Given the description of an element on the screen output the (x, y) to click on. 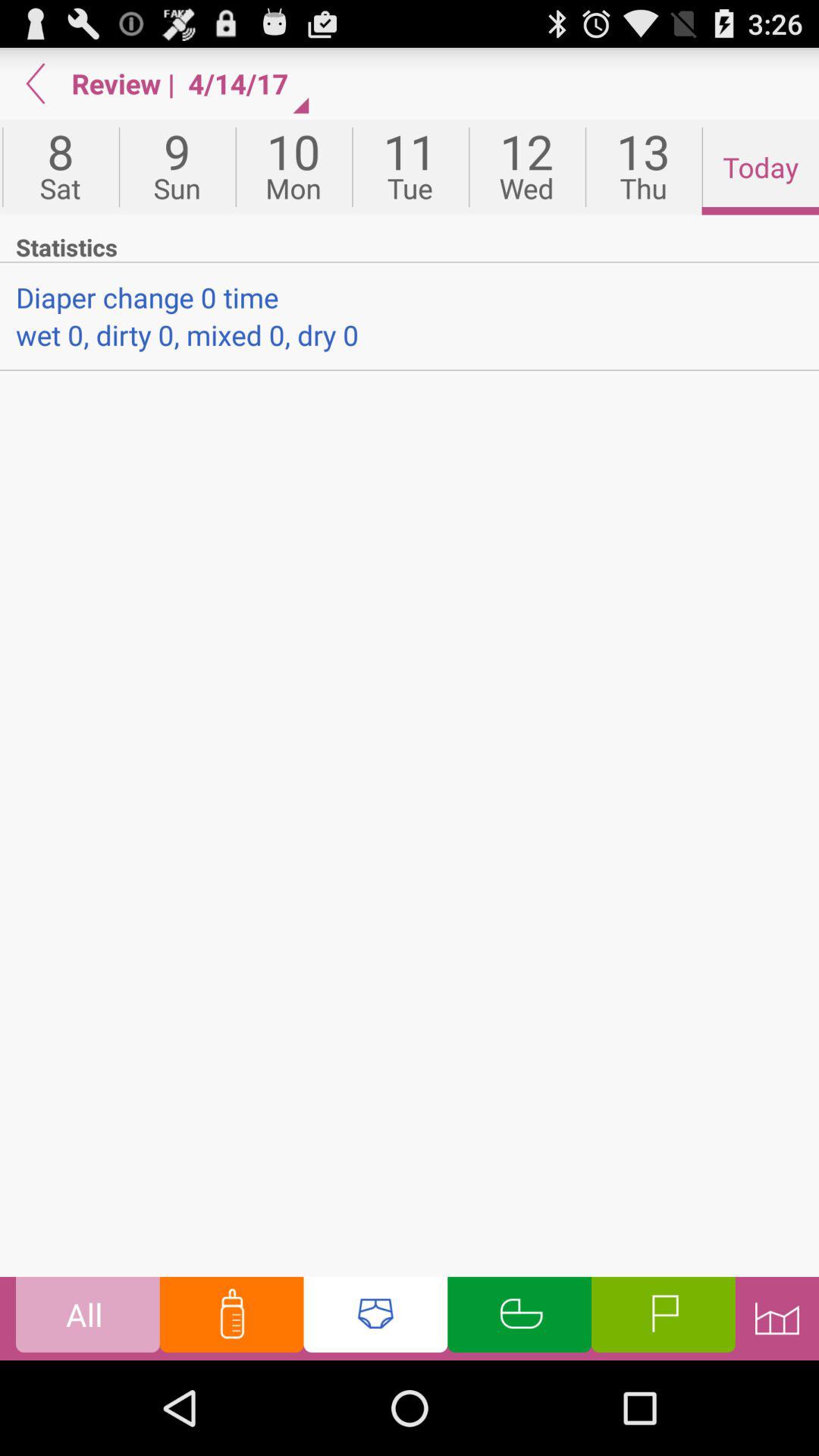
swipe until wet 0 dirty app (409, 334)
